Given the description of an element on the screen output the (x, y) to click on. 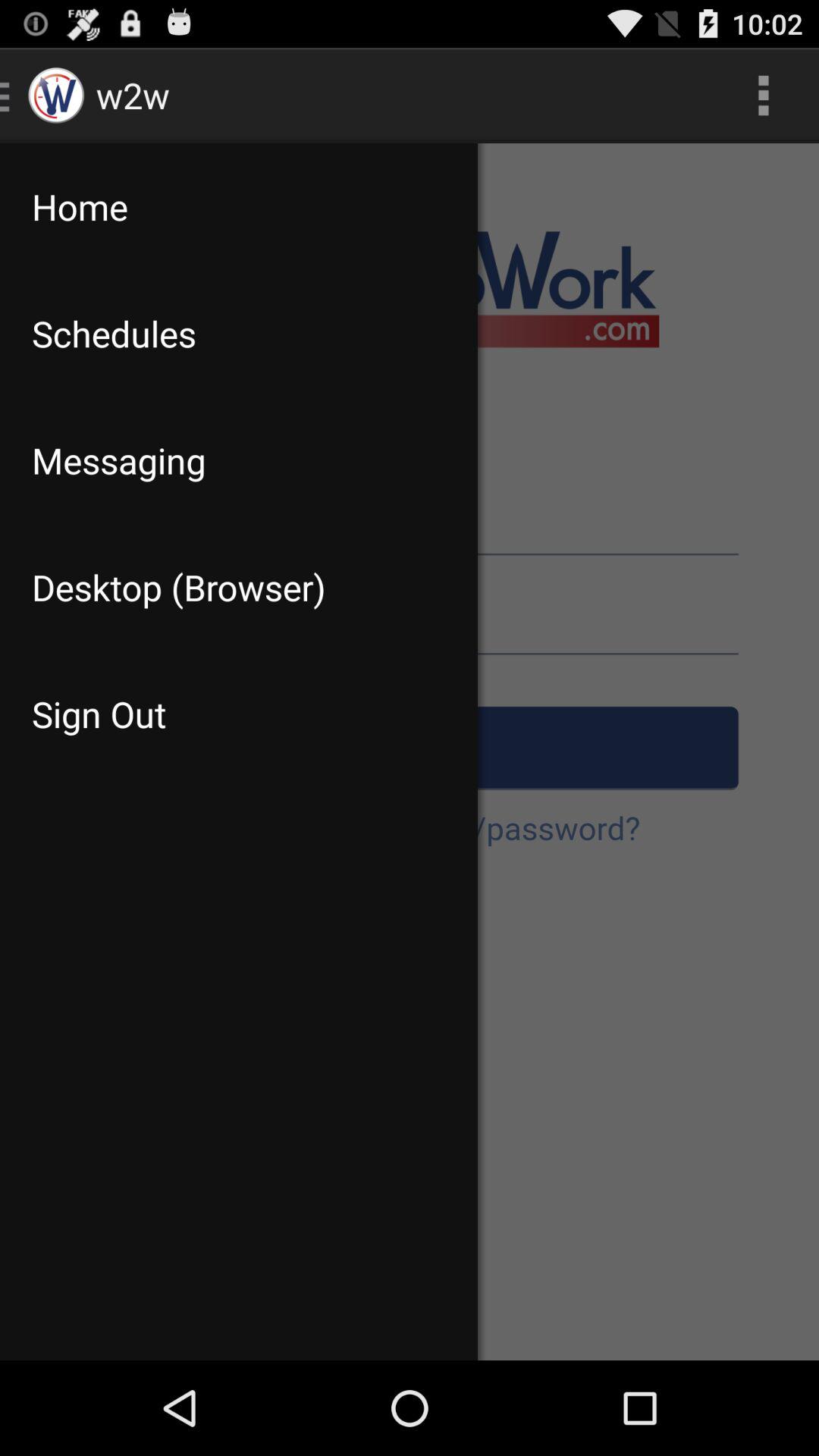
scroll until the desktop (browser) item (238, 587)
